Given the description of an element on the screen output the (x, y) to click on. 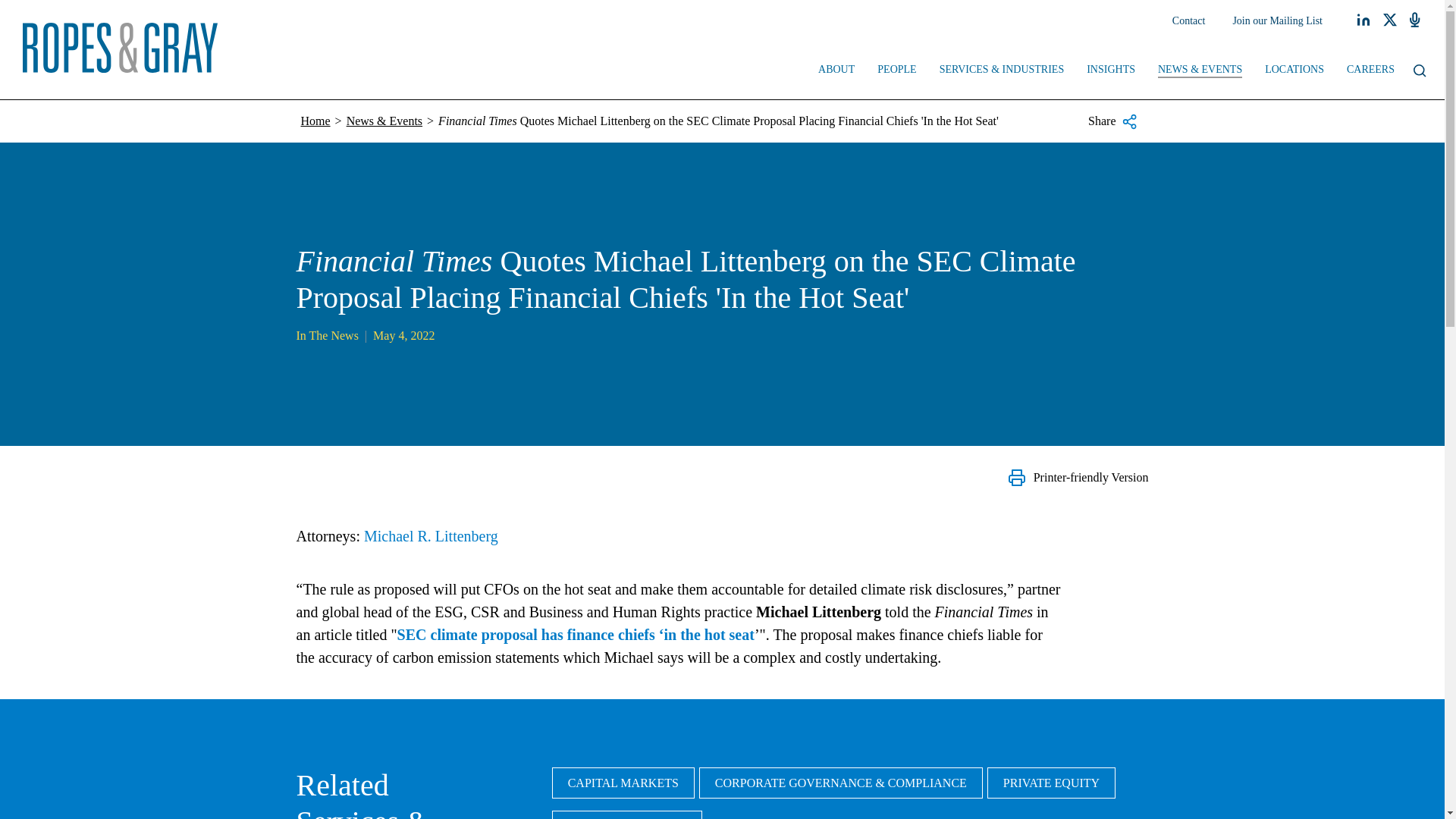
Contact (1189, 21)
Share (1112, 121)
INSIGHTS (1111, 70)
LOCATIONS (1294, 70)
RISK MANAGEMENT (626, 814)
PEOPLE (896, 70)
PRIVATE EQUITY (1051, 782)
CAREERS (1370, 70)
Michael R. Littenberg (430, 535)
CAPITAL MARKETS (622, 782)
ABOUT (836, 70)
Printer-friendly Version (1077, 477)
Join our Mailing List (1277, 21)
Home (314, 121)
